Given the description of an element on the screen output the (x, y) to click on. 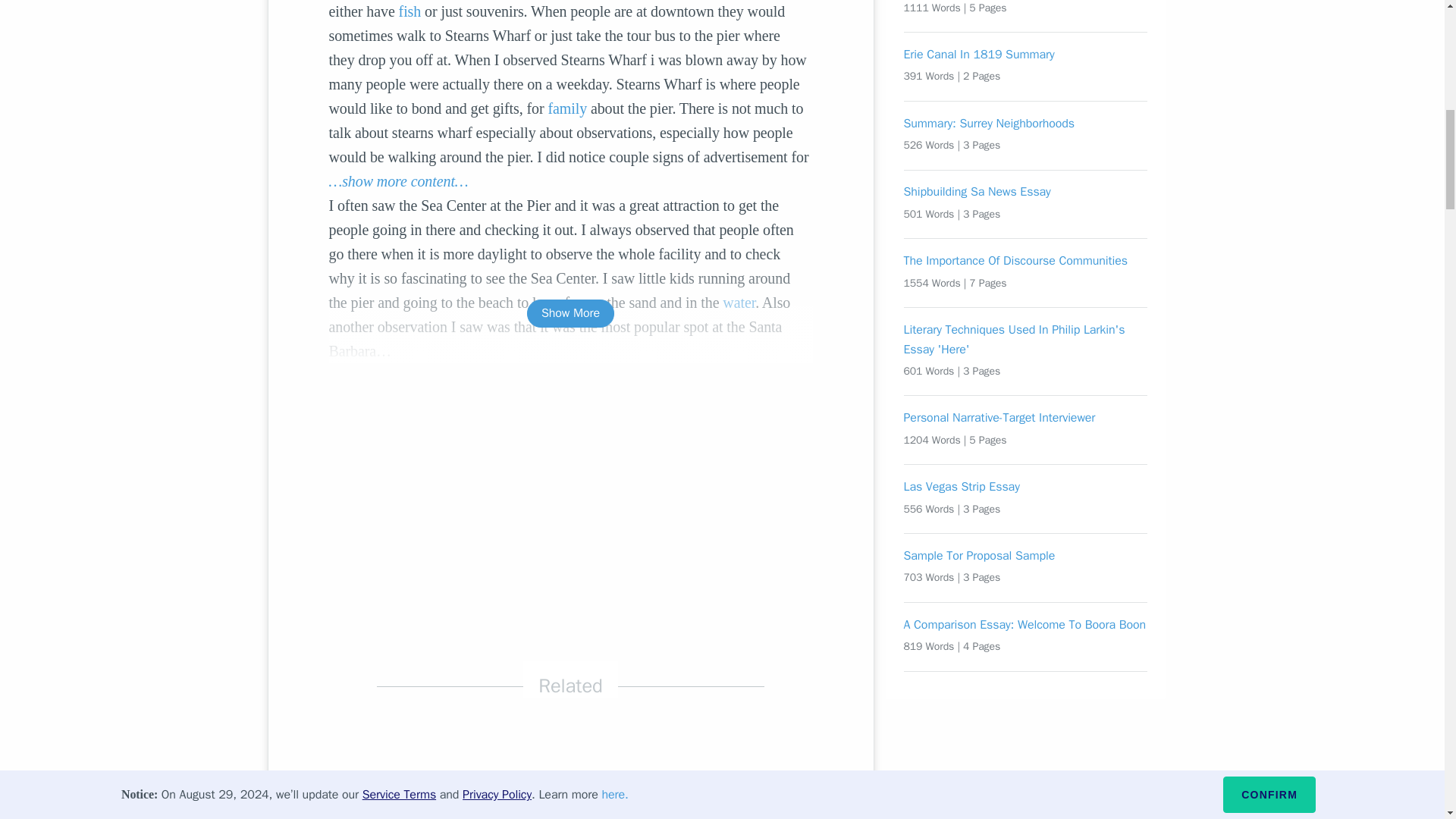
Show More (570, 313)
fish (410, 11)
water (738, 302)
Raystown Lake Research Paper (570, 785)
family (566, 108)
